Given the description of an element on the screen output the (x, y) to click on. 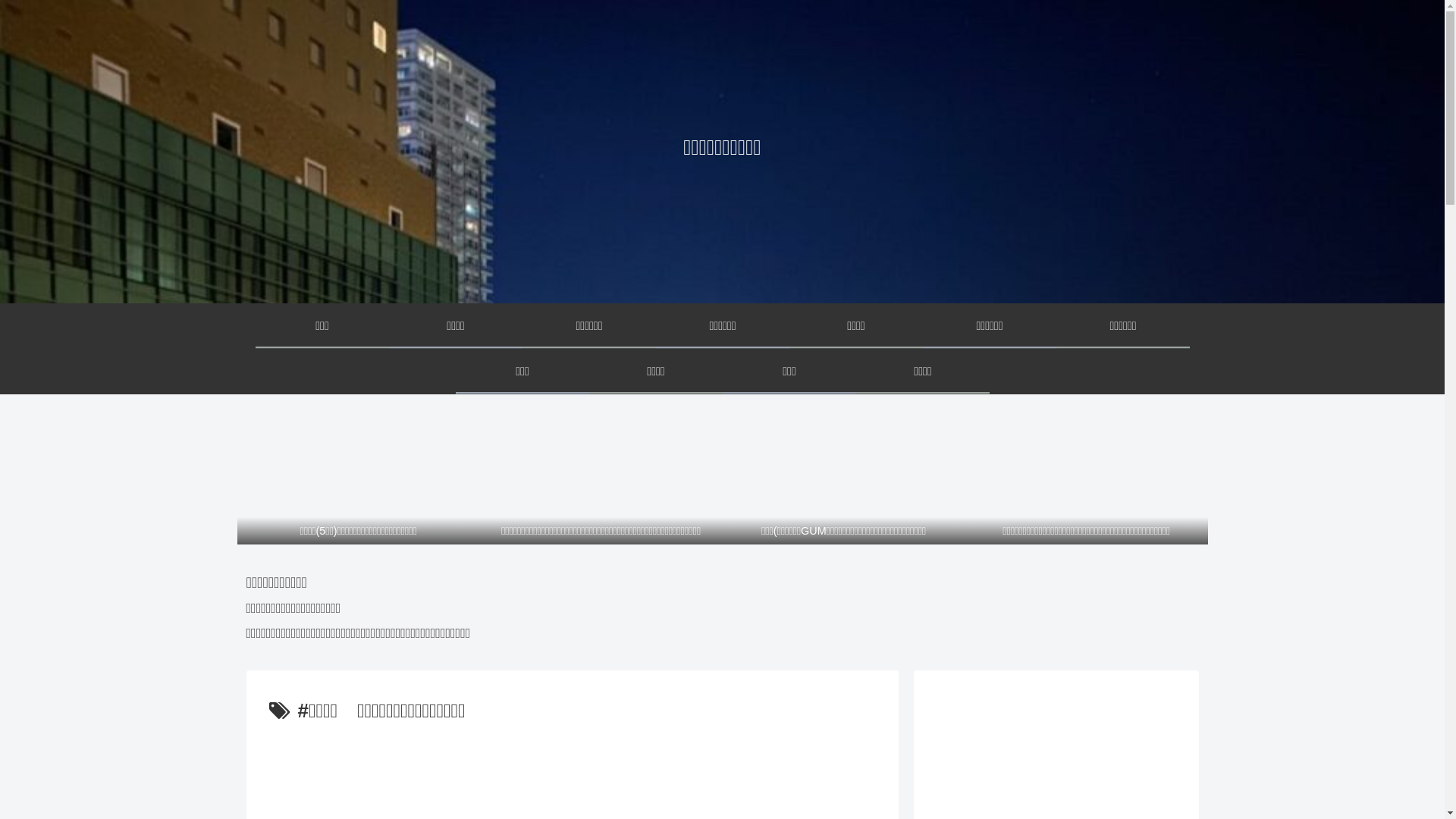
Advertisement Element type: hover (571, 769)
